Given the description of an element on the screen output the (x, y) to click on. 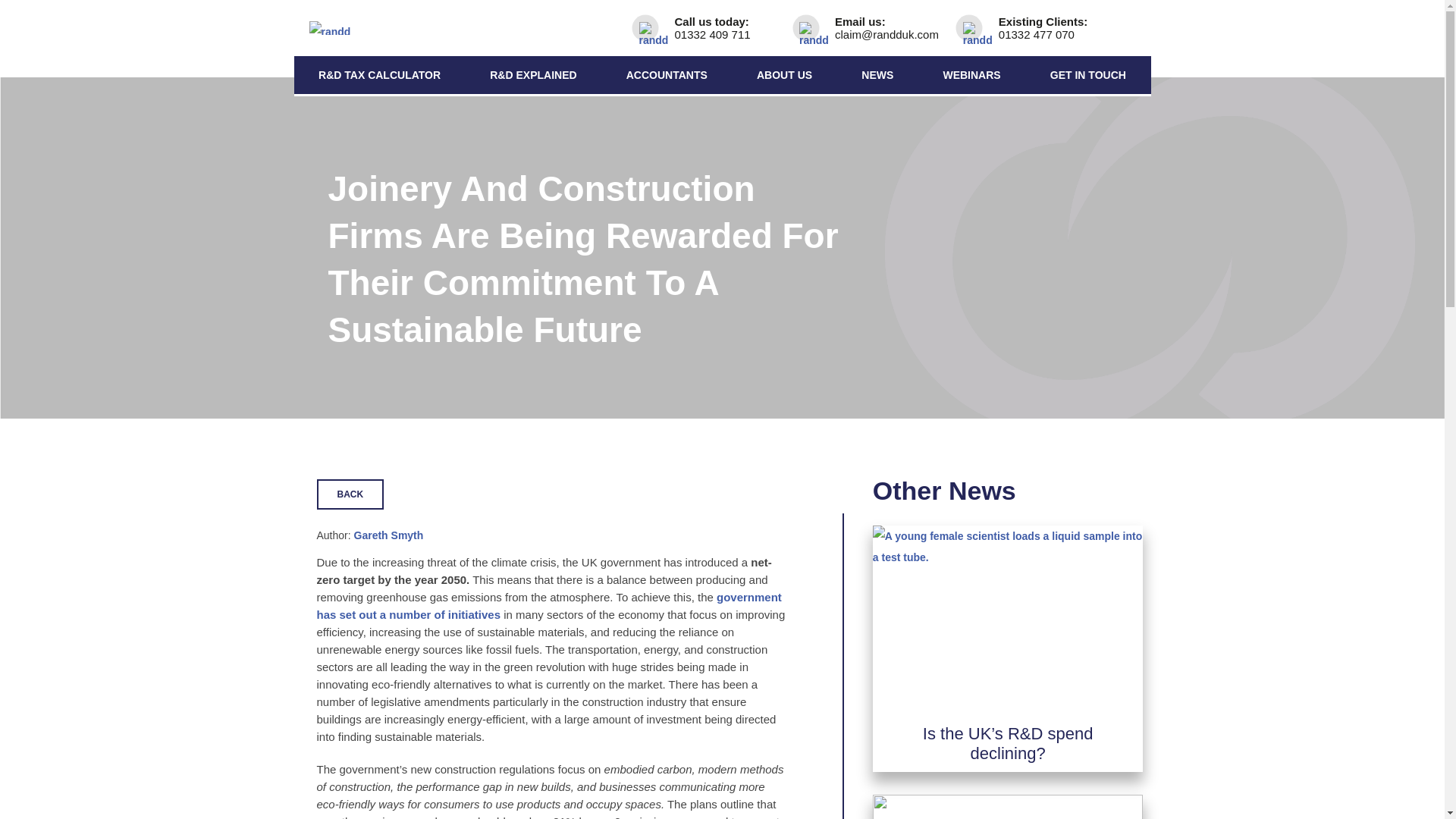
GET IN TOUCH (1087, 75)
WEBINARS (971, 75)
Email us: (872, 27)
Call us today: 01332 409 711 (711, 27)
BACK (350, 494)
Gareth Smyth (388, 535)
Existing Clients: 01332 477 070 (1040, 27)
ABOUT US (784, 75)
Existing Clients (1040, 27)
government has set out a number of initiatives (549, 605)
